Given the description of an element on the screen output the (x, y) to click on. 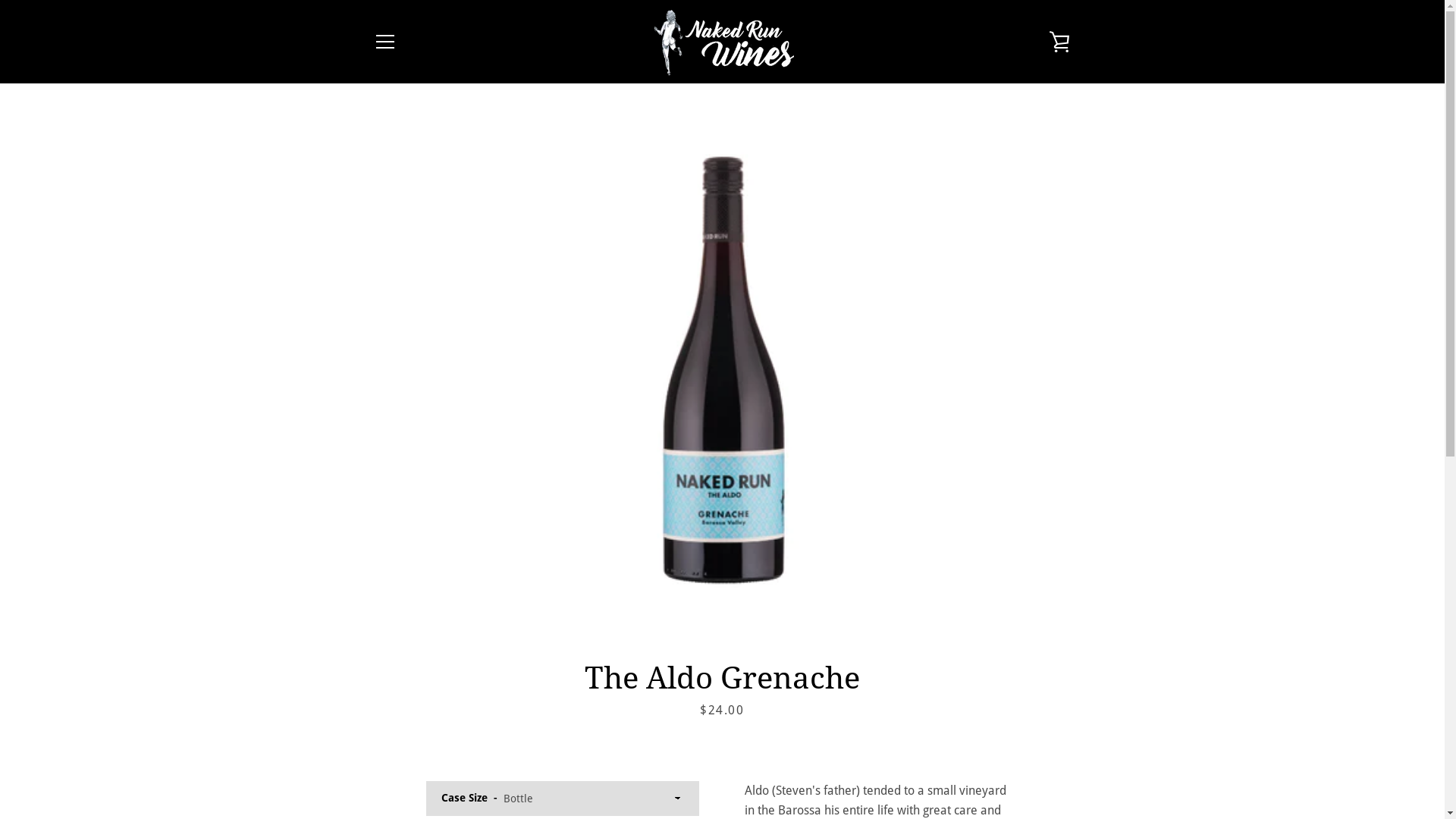
Sign up Element type: text (1024, 675)
Instagram Element type: text (398, 768)
STOCKISTS Element type: text (399, 658)
Naked Run Wines Element type: text (728, 759)
VIEW CART Element type: text (1059, 41)
CONTACT US Element type: text (404, 702)
EXPAND NAVIGATION Element type: text (384, 41)
Skip to content Element type: text (0, 0)
TRADE Element type: text (389, 680)
Facebook Element type: text (372, 768)
SHOP WINES Element type: text (404, 635)
